Given the description of an element on the screen output the (x, y) to click on. 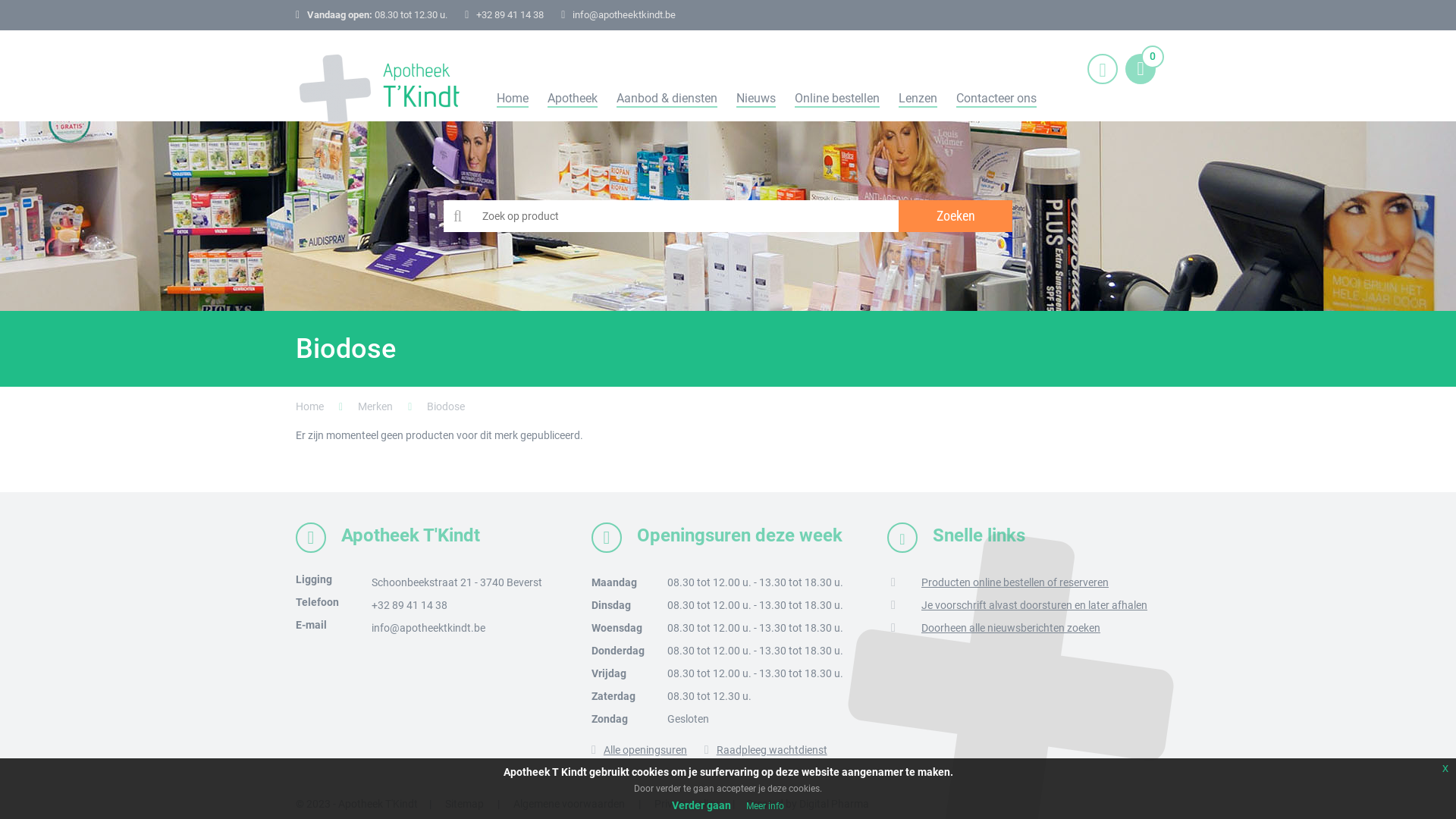
info@apotheektkindt.be Element type: text (623, 14)
Privacy policy Element type: text (686, 803)
Vandaag open 08.30 tot 12.30 u. Element type: text (378, 14)
Contacteer ons Element type: text (996, 99)
Je voorschrift alvast doorsturen en later afhalen Element type: text (1034, 605)
info@apotheektkindt.be Element type: text (428, 627)
Online bestellen Element type: text (836, 99)
Raadpleeg wachtdienst Element type: text (765, 749)
Algemene voorwaarden Element type: text (568, 803)
Nieuws Element type: text (755, 99)
Producten online bestellen of reserveren Element type: text (1014, 582)
+32 89 41 14 38 Element type: text (409, 605)
Lenzen Element type: text (917, 99)
Digital Pharma Element type: text (834, 803)
Apotheek Element type: text (572, 99)
Sitemap Element type: text (464, 803)
Verder gaan Element type: text (701, 805)
Zoeken Element type: text (955, 216)
Schoonbeekstraat 21 - 3740 Beverst Element type: text (456, 582)
Alle openingsuren Element type: text (639, 749)
Merken Element type: text (374, 406)
0 Element type: text (1140, 68)
Meer info Element type: text (765, 805)
+32 89 41 14 38 Element type: text (509, 14)
Home Element type: text (309, 406)
Aanbod & diensten Element type: text (666, 99)
Doorheen alle nieuwsberichten zoeken Element type: text (1010, 627)
Home Element type: text (512, 99)
